Given the description of an element on the screen output the (x, y) to click on. 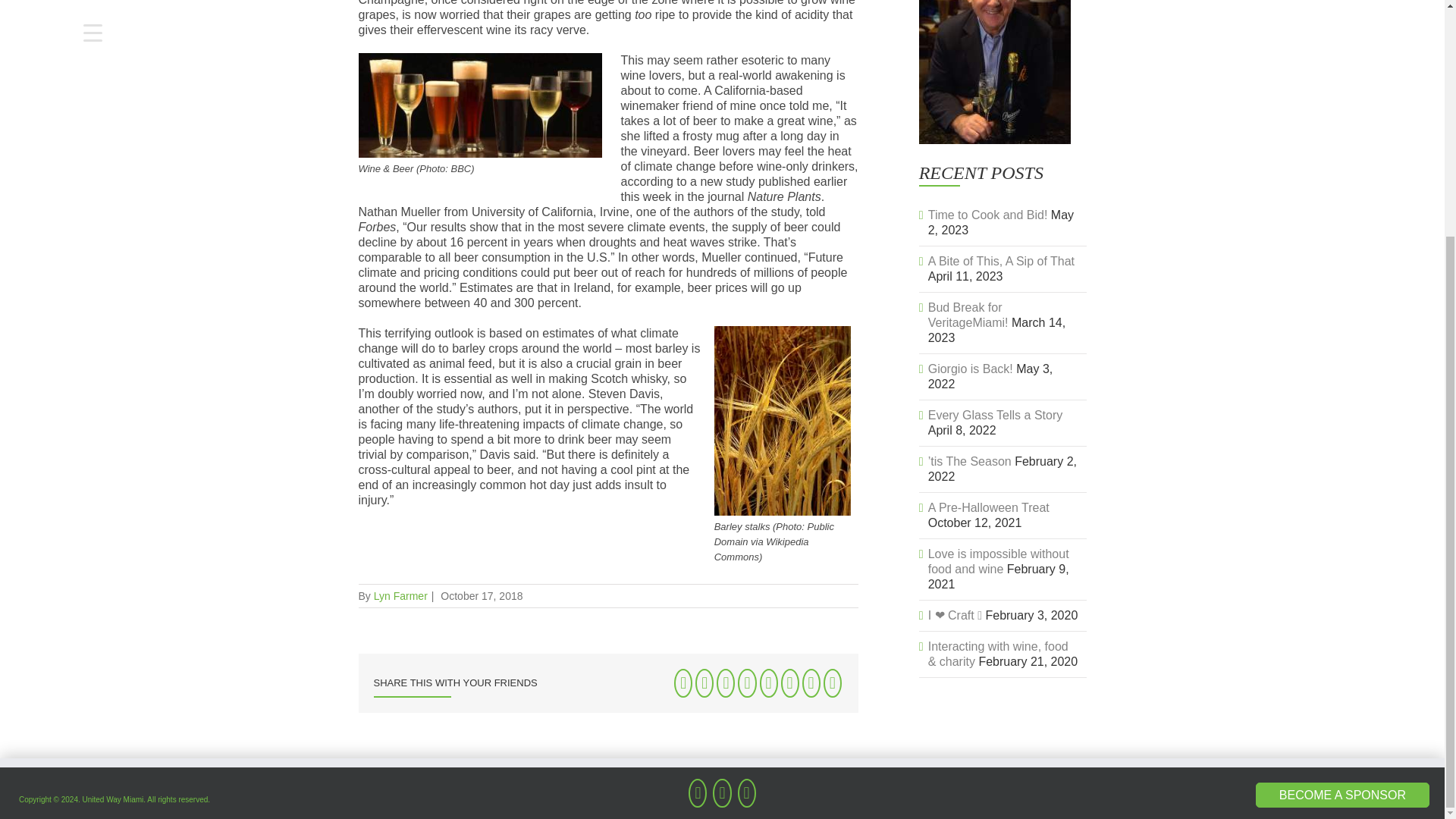
Giorgio is Back! (970, 368)
Lyn Farmer (401, 595)
A Pre-Halloween Treat (988, 507)
Posts by Lyn Farmer (401, 595)
Every Glass Tells a Story (995, 414)
Bud Break for VeritageMiami! (968, 315)
Time to Cook and Bid! (988, 214)
A Bite of This, A Sip of That (1001, 260)
Love is impossible without food and wine (998, 561)
